Given the description of an element on the screen output the (x, y) to click on. 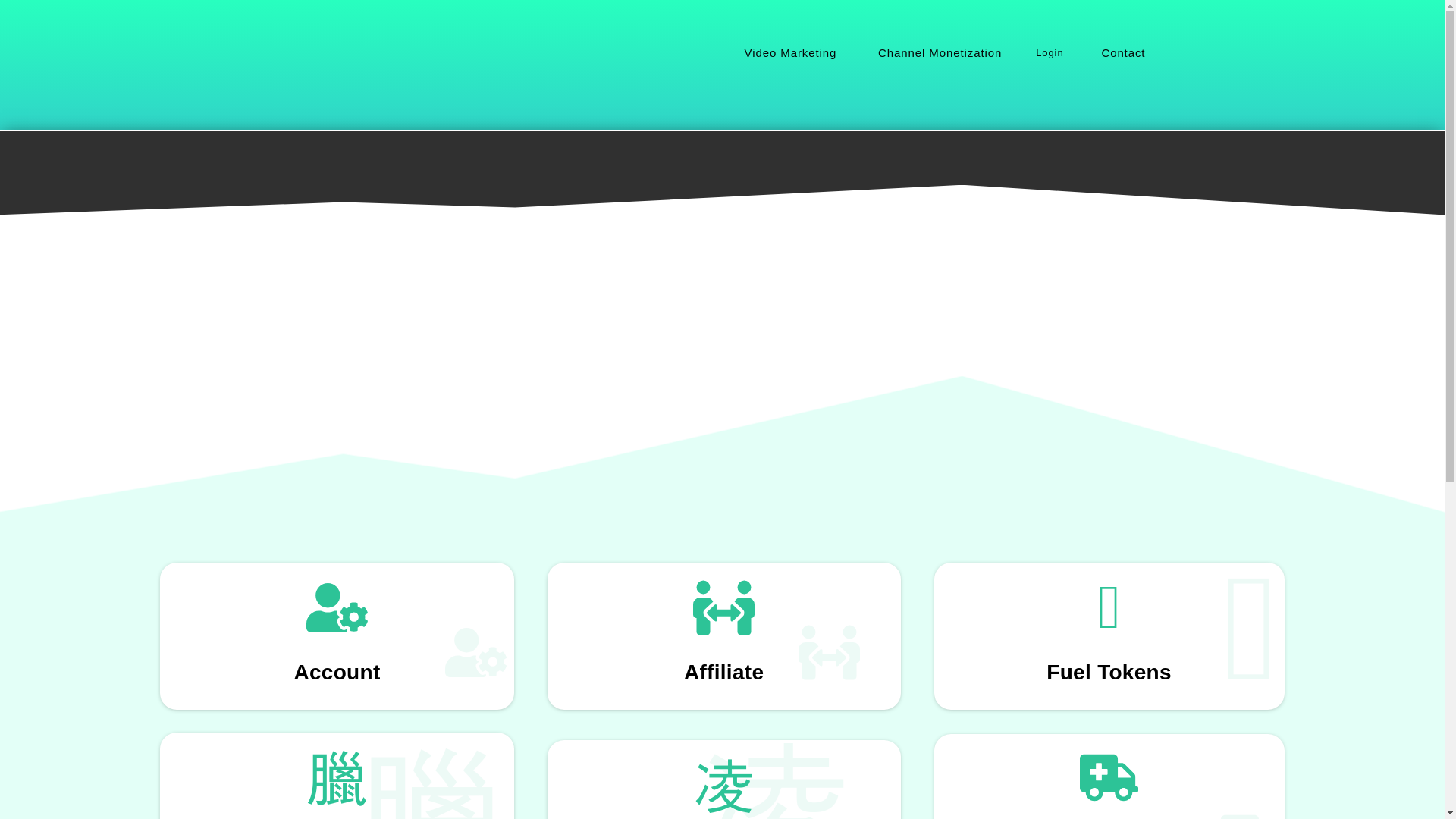
Video Marketing (789, 53)
Channel Monetization (938, 53)
Contact (1121, 53)
Login (1049, 53)
